Given the description of an element on the screen output the (x, y) to click on. 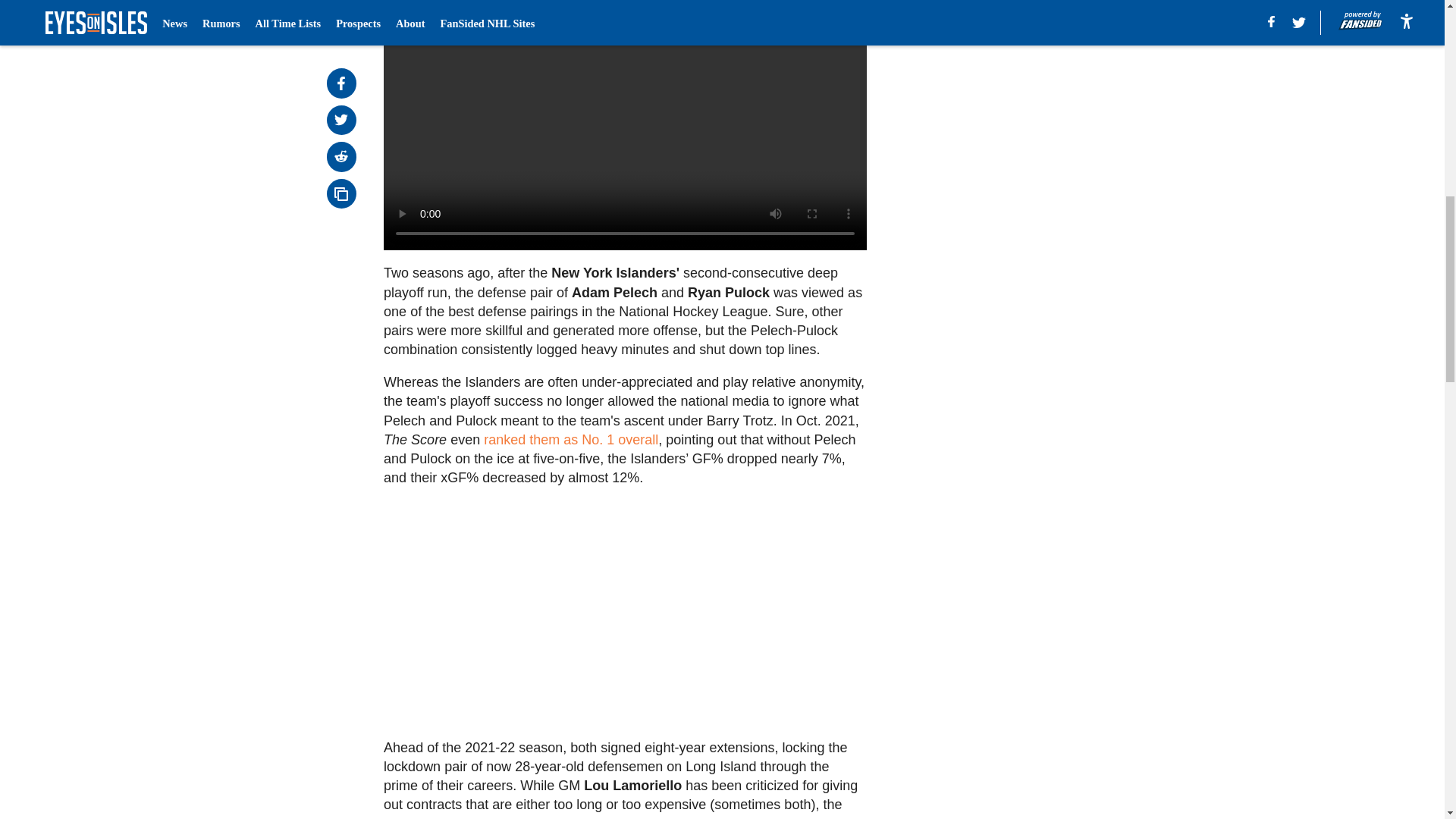
ranked them as No. 1 overall (570, 439)
3rd party ad content (1005, 84)
3rd party ad content (1005, 293)
